Given the description of an element on the screen output the (x, y) to click on. 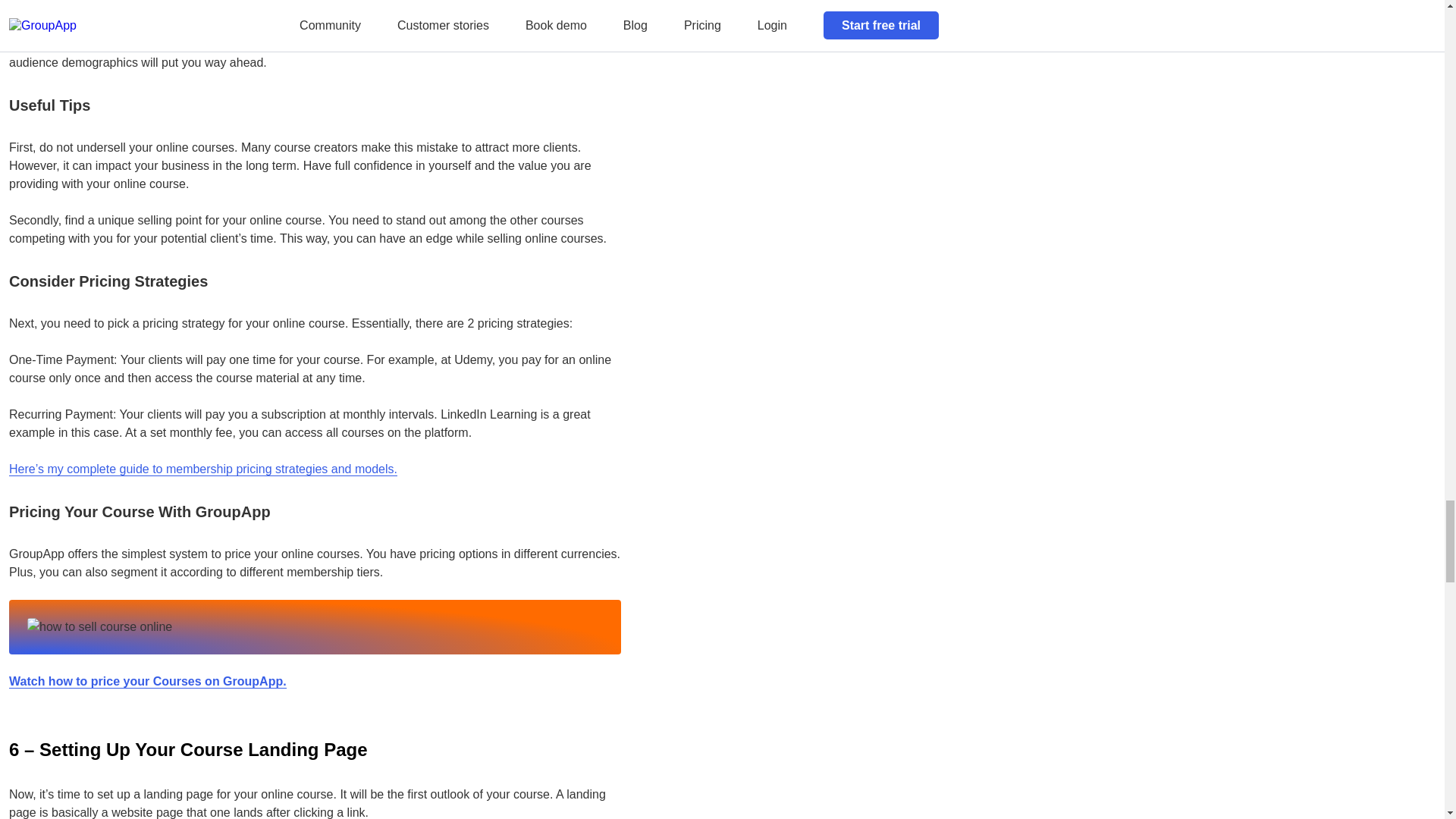
Watch how to price your Courses on GroupApp. (147, 681)
